Given the description of an element on the screen output the (x, y) to click on. 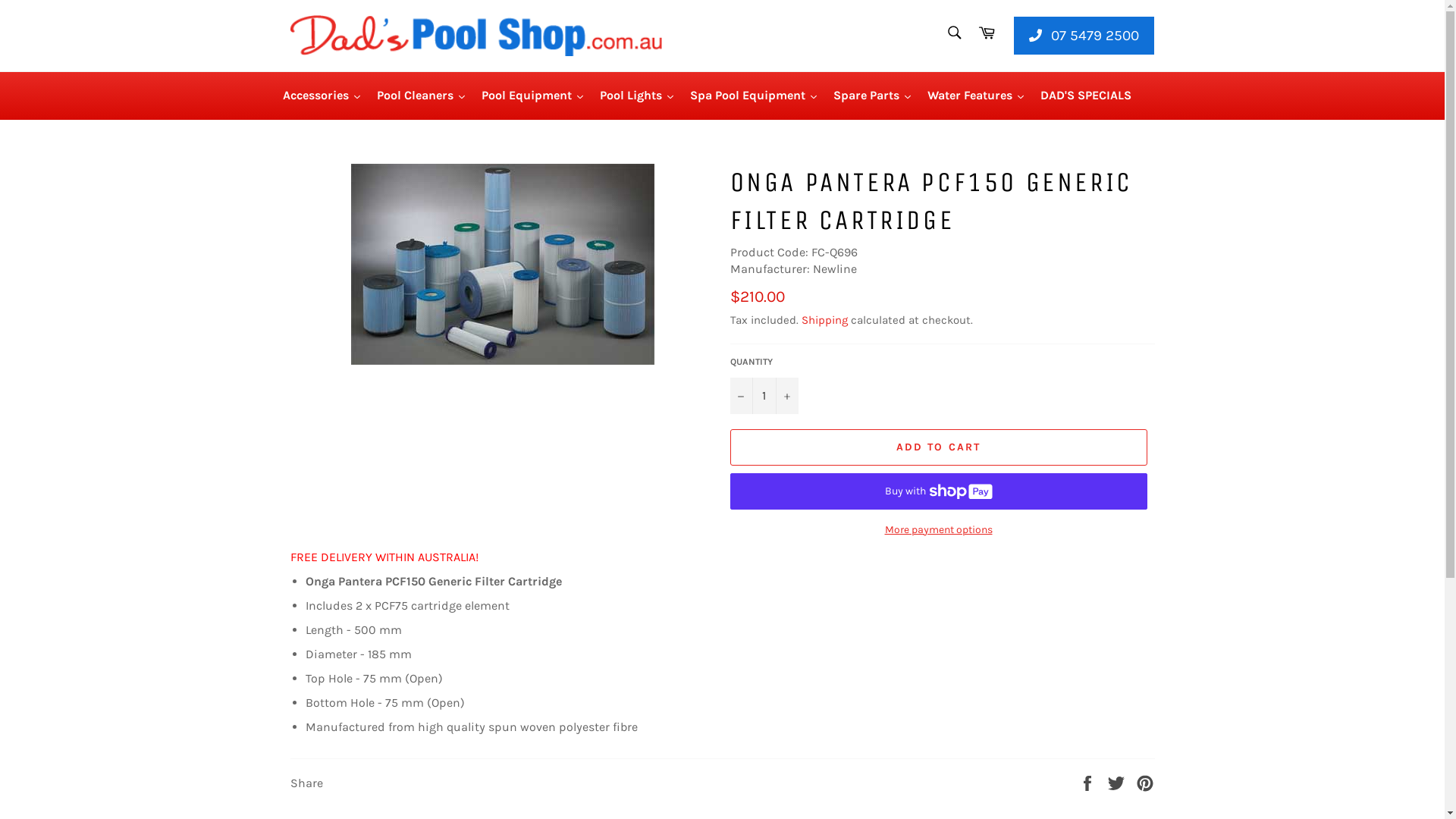
Pool Equipment Element type: text (532, 95)
Pin on Pinterest Element type: text (1144, 782)
Spare Parts Element type: text (872, 95)
+ Element type: text (786, 395)
Search Element type: text (953, 32)
Pool Lights Element type: text (636, 95)
Cart Element type: text (986, 35)
Shipping Element type: text (823, 319)
Water Features Element type: text (975, 95)
Spa Pool Equipment Element type: text (753, 95)
Accessories Element type: text (321, 95)
Share on Facebook Element type: text (1088, 782)
ADD TO CART Element type: text (937, 447)
07 5479 2500 Element type: text (1083, 35)
Pool Cleaners Element type: text (420, 95)
DAD'S SPECIALS Element type: text (1085, 95)
Tweet on Twitter Element type: text (1117, 782)
More payment options Element type: text (937, 529)
